Given the description of an element on the screen output the (x, y) to click on. 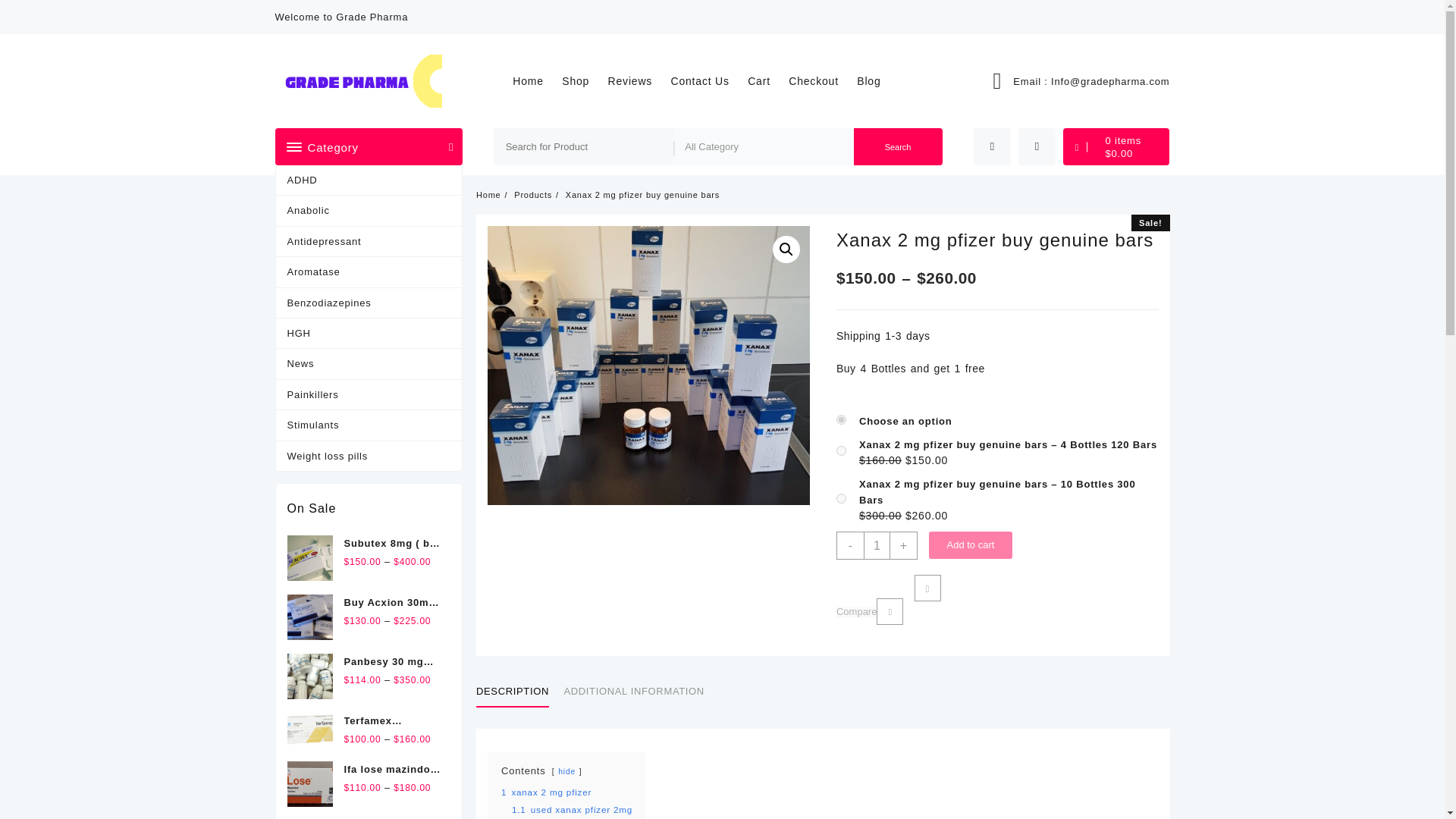
HGH (369, 333)
on (840, 498)
Blog (876, 80)
View your shopping cart (1115, 146)
Cart (767, 80)
on (840, 450)
Anabolic (369, 210)
Antidepressant (369, 241)
Shop (583, 80)
Contact Us (707, 80)
